Given the description of an element on the screen output the (x, y) to click on. 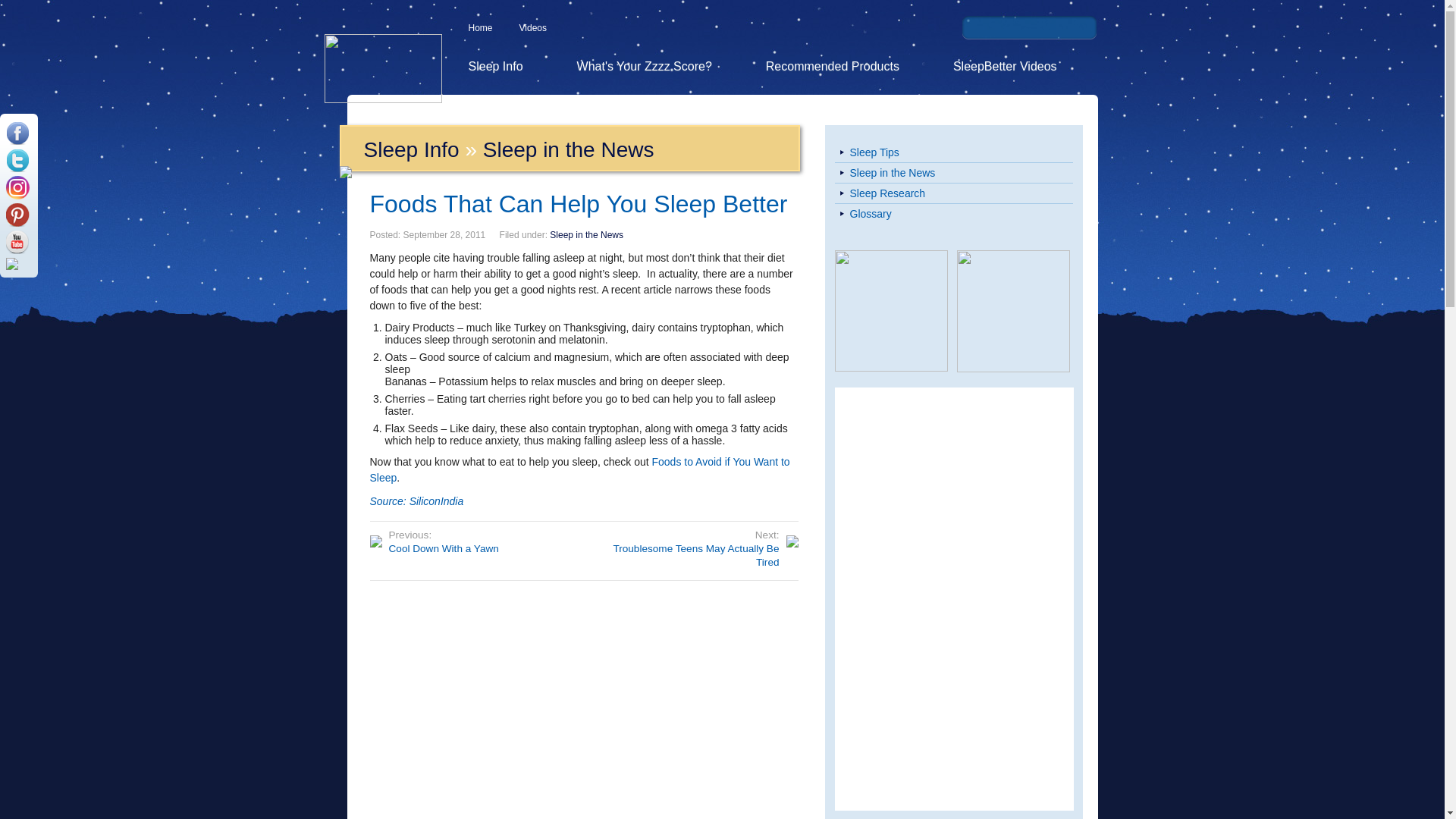
Videos (533, 27)
SleepBetter Videos (1005, 66)
Search (1084, 29)
Recommended Products (831, 66)
Home (480, 27)
Sleep Info (495, 66)
What's Your Zzzz Score? (644, 66)
Search (1084, 29)
